Given the description of an element on the screen output the (x, y) to click on. 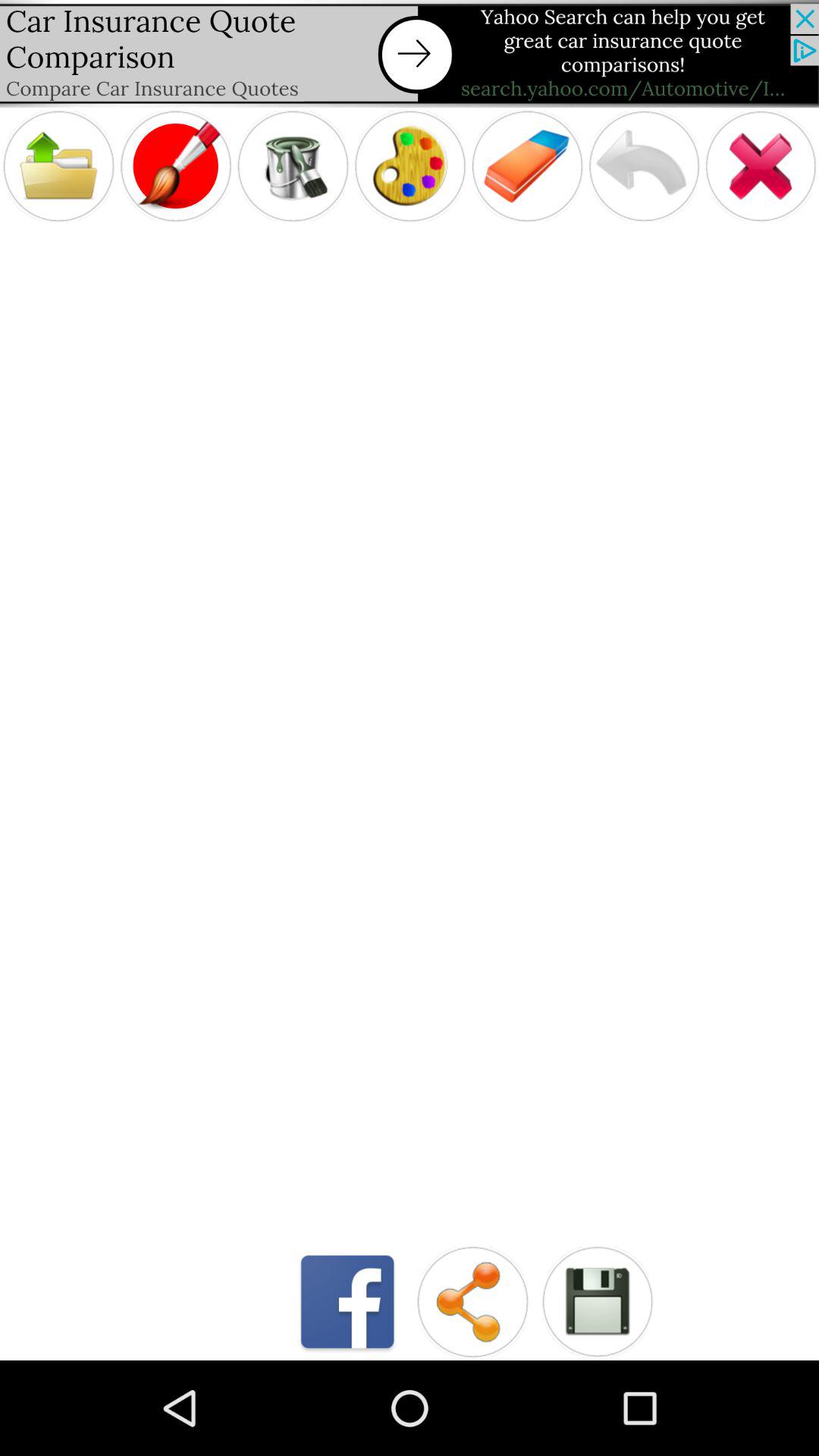
close out of current creation (760, 165)
